Given the description of an element on the screen output the (x, y) to click on. 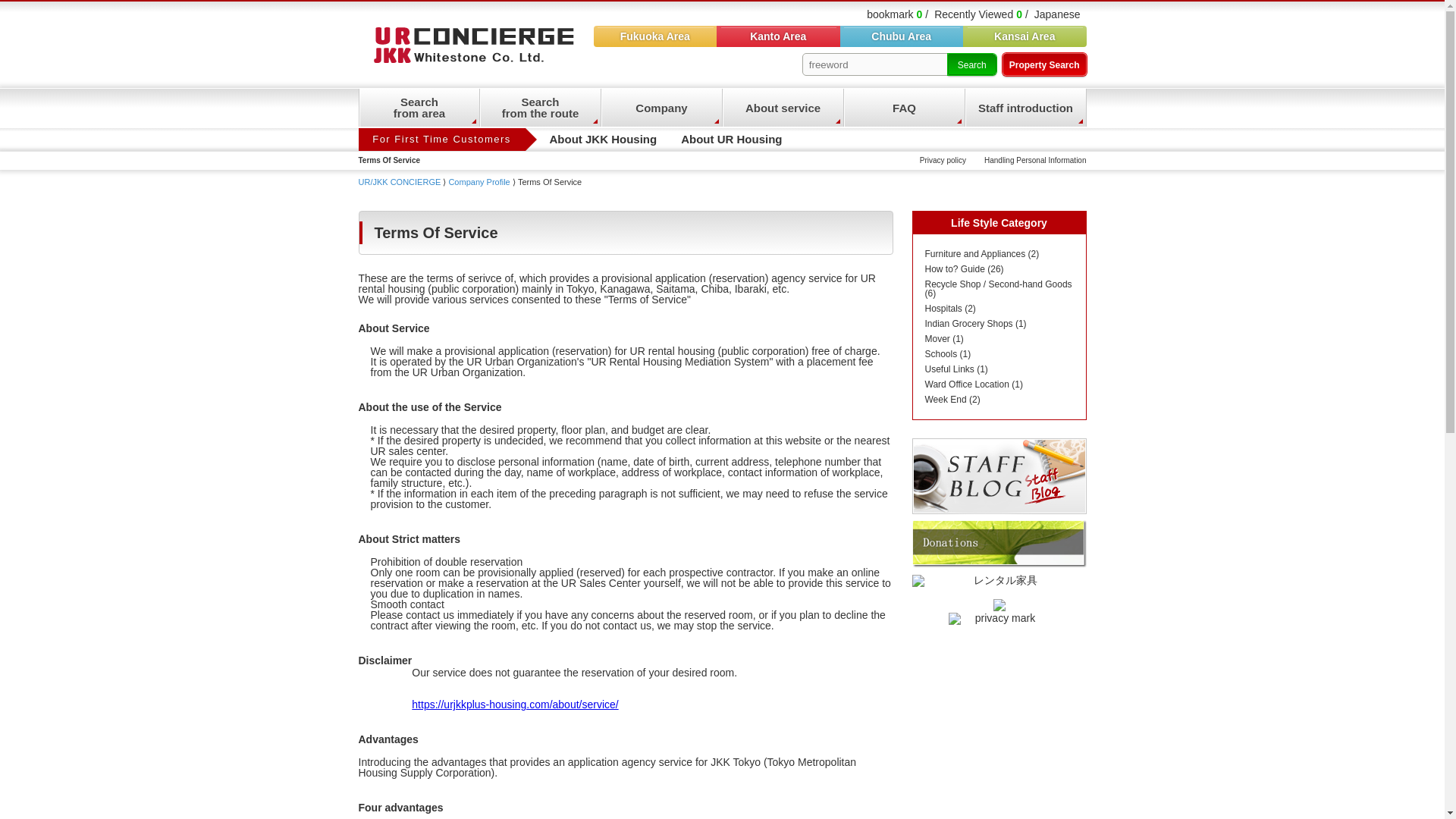
Company (659, 107)
Privacy policy (943, 160)
Chubu Area (901, 36)
FAQ (903, 107)
Property Search (1044, 64)
Staff introduction (1023, 107)
Japanese (1059, 14)
About UR Housing (730, 138)
Kansai Area (419, 107)
